Given the description of an element on the screen output the (x, y) to click on. 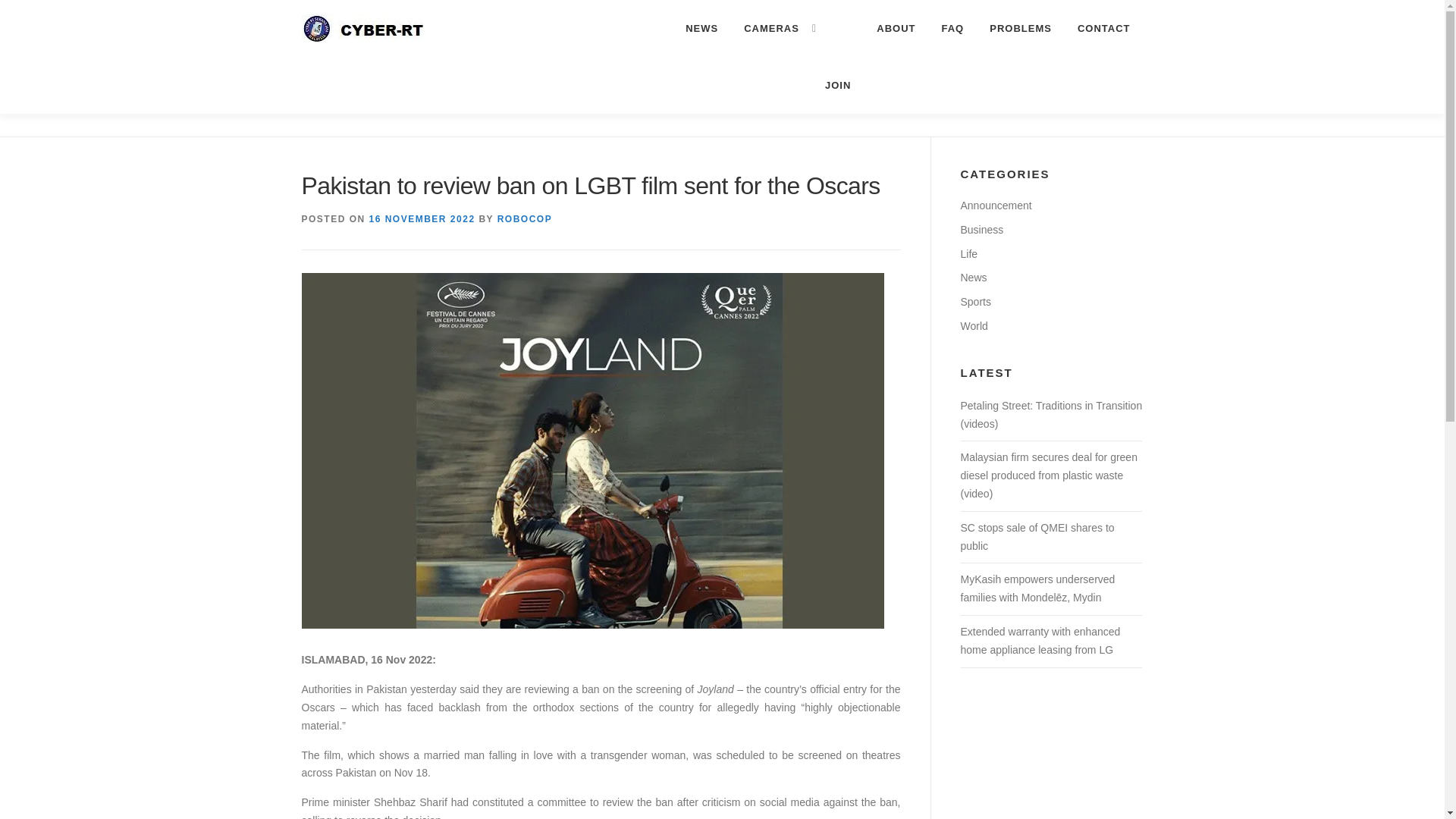
Business (981, 229)
ABOUT (895, 28)
CAMERAS (771, 28)
World (973, 326)
Sports (974, 301)
JOIN (837, 84)
News (973, 277)
Life (967, 254)
ROBOCOP (525, 218)
Announcement (994, 205)
